Given the description of an element on the screen output the (x, y) to click on. 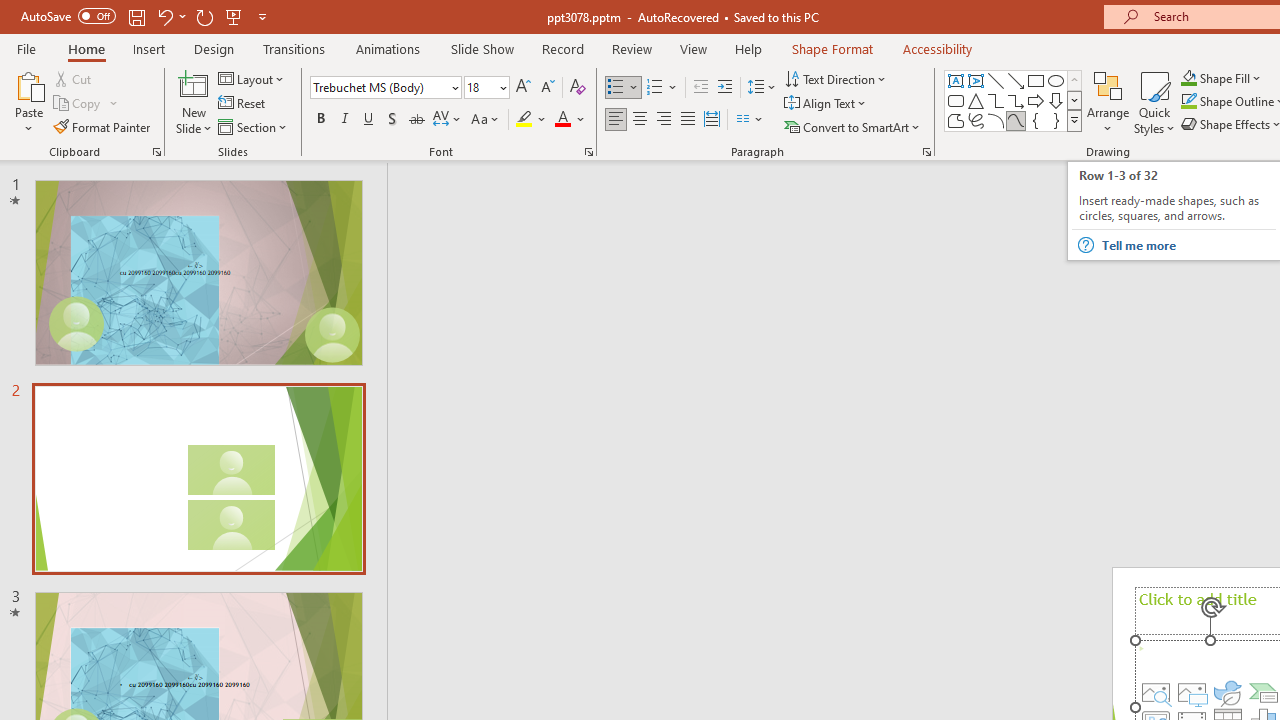
Insert a SmartArt Graphic (1264, 692)
